Given the description of an element on the screen output the (x, y) to click on. 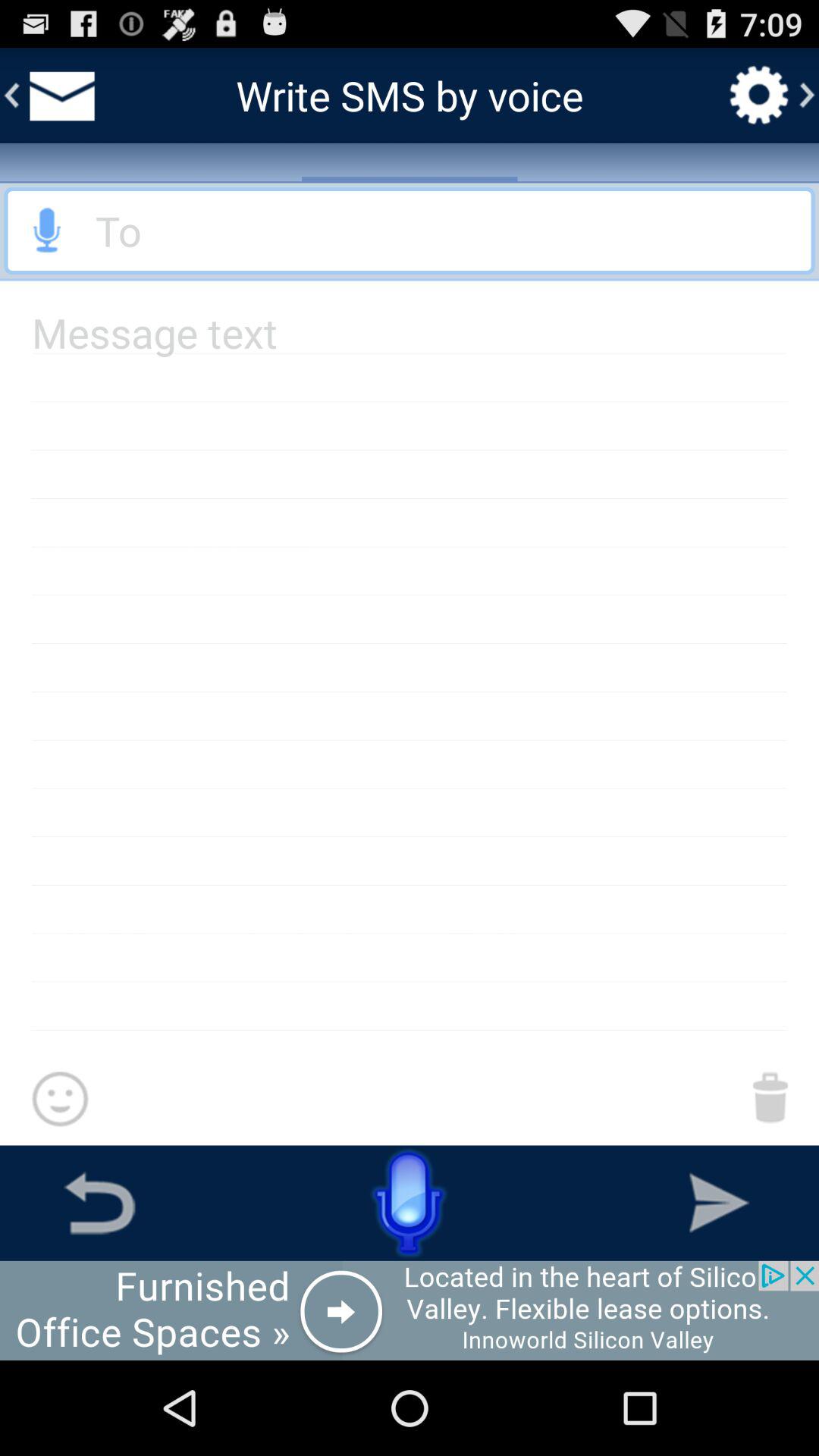
go to setting option (759, 95)
